Given the description of an element on the screen output the (x, y) to click on. 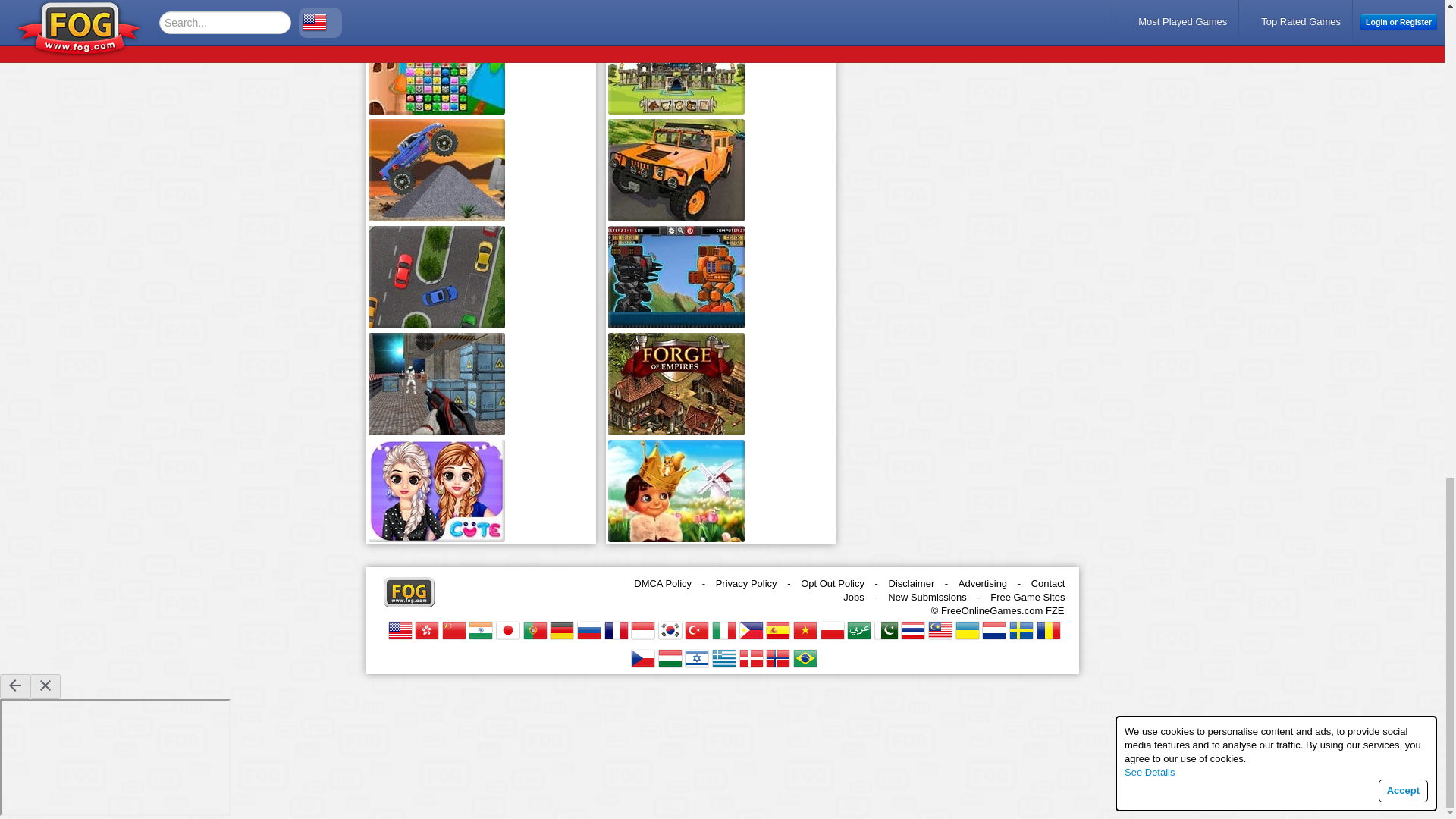
Main Game Di Indonesia (642, 630)
Play Games In English (400, 630)
Spielen Sie Spiele auf Deutsch (561, 630)
Maglaro ng Mga Laro Sa Tagalo (750, 630)
Giochi In italiano (723, 630)
